Given the description of an element on the screen output the (x, y) to click on. 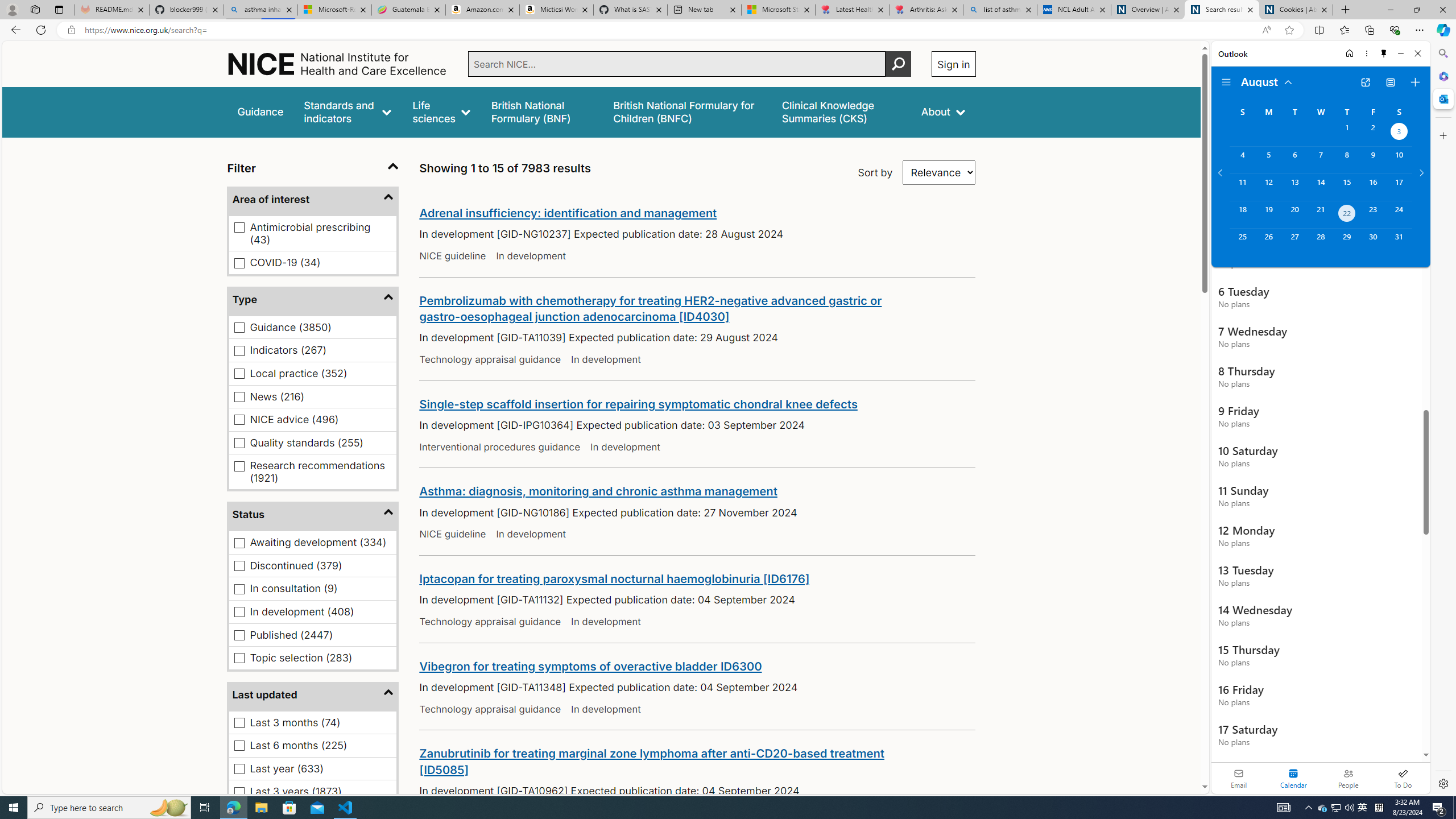
British National Formulary for Children (BNFC) (686, 111)
News (216) (239, 396)
Close Outlook pane (1442, 98)
People (1347, 777)
Last 3 years (1873) (239, 791)
August (1267, 80)
COVID-19 (34) (239, 262)
Open in new tab (1365, 82)
